Given the description of an element on the screen output the (x, y) to click on. 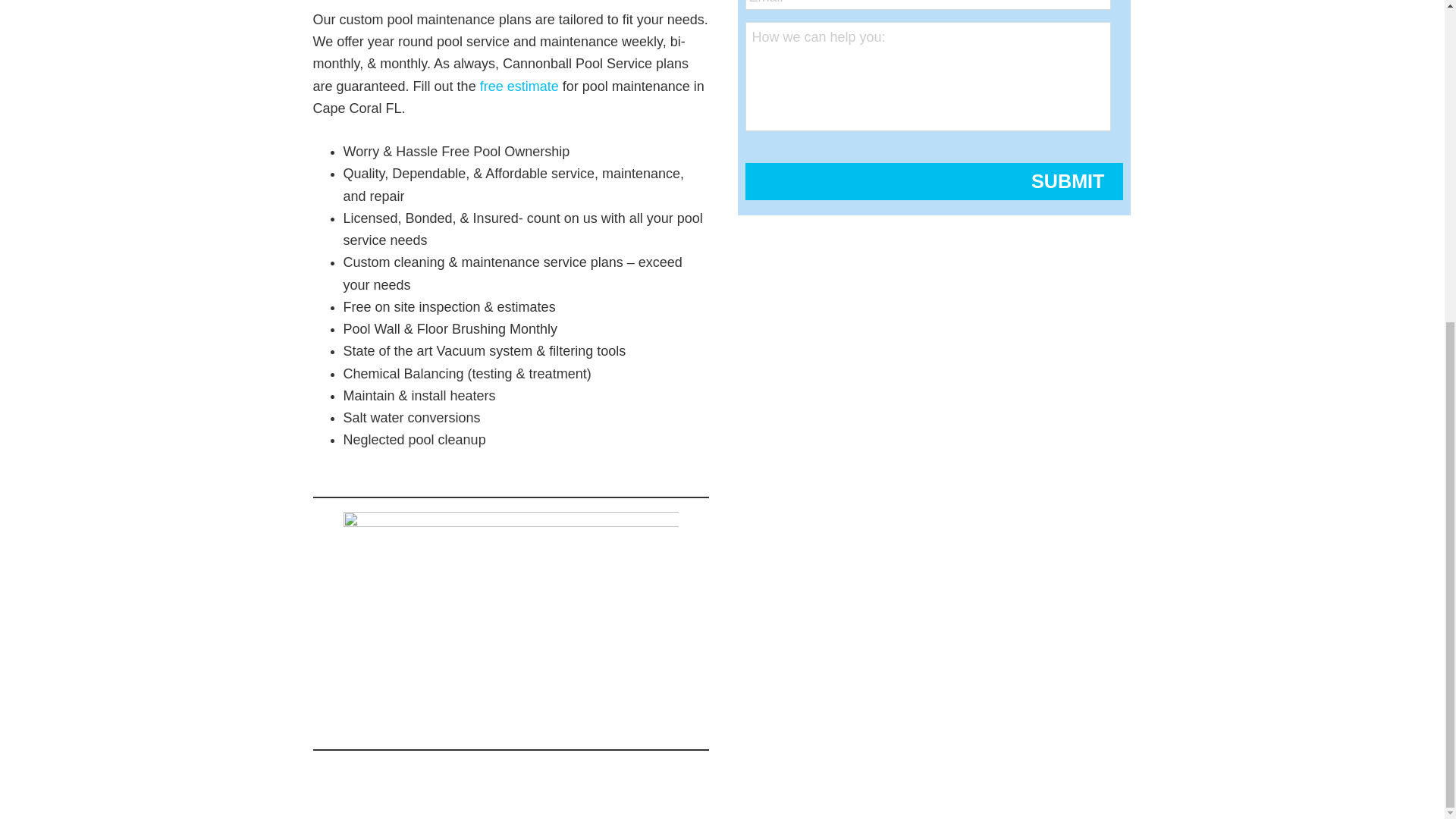
free estimate (519, 86)
Submit (933, 180)
Submit (933, 180)
